Given the description of an element on the screen output the (x, y) to click on. 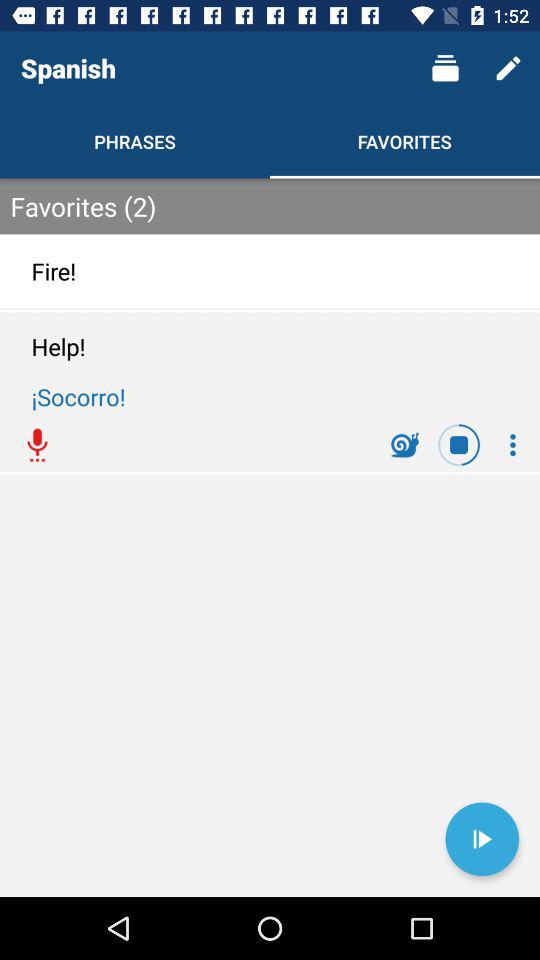
turn on icon to the right of spanish (444, 67)
